Given the description of an element on the screen output the (x, y) to click on. 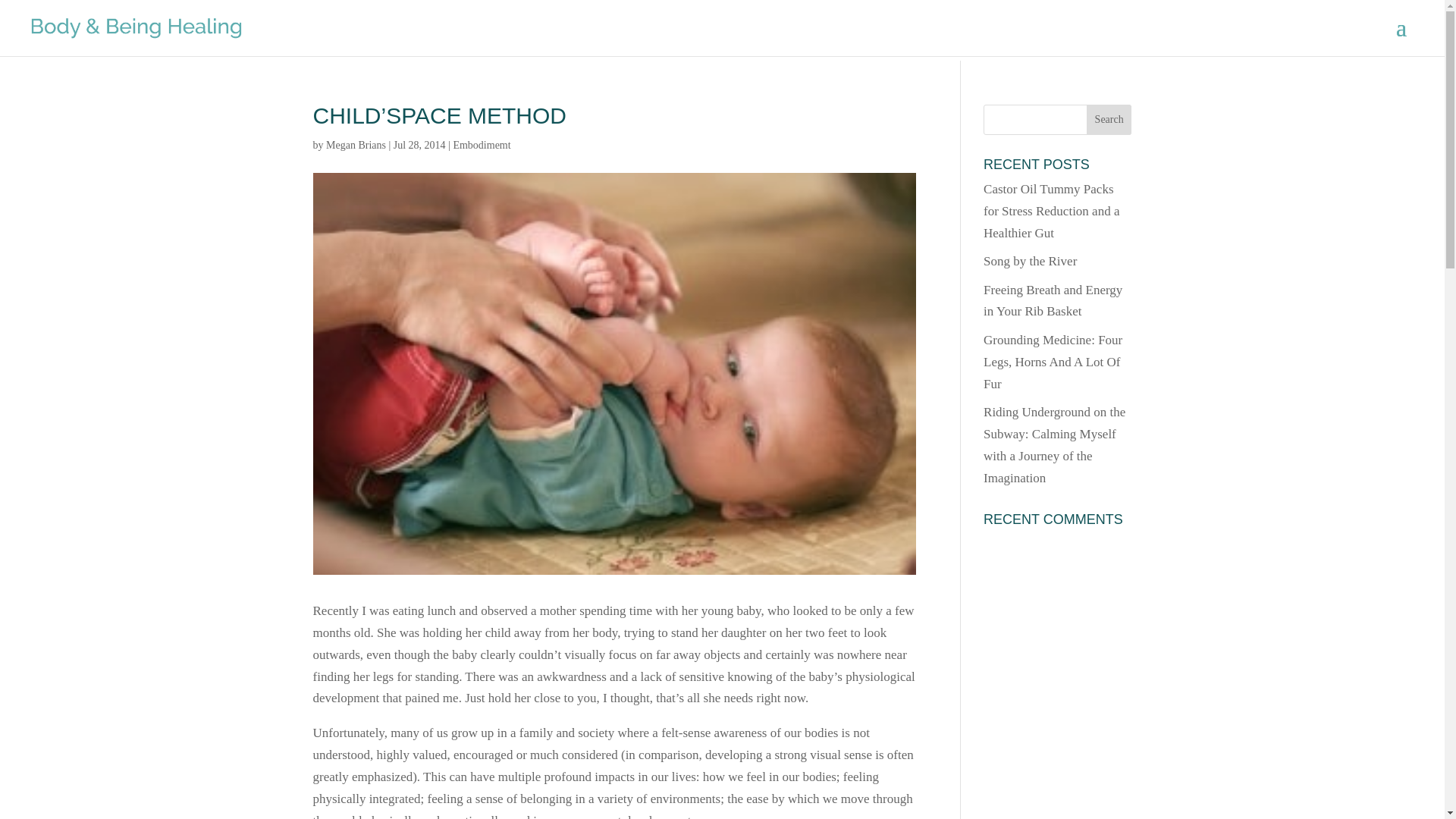
Embodimemt (481, 144)
Search (1109, 119)
Freeing Breath and Energy in Your Rib Basket (1053, 300)
Song by the River (1030, 260)
Grounding Medicine: Four Legs, Horns And A Lot Of Fur (1053, 361)
Search (1109, 119)
Posts by Megan Brians (355, 144)
Megan Brians (355, 144)
